Given the description of an element on the screen output the (x, y) to click on. 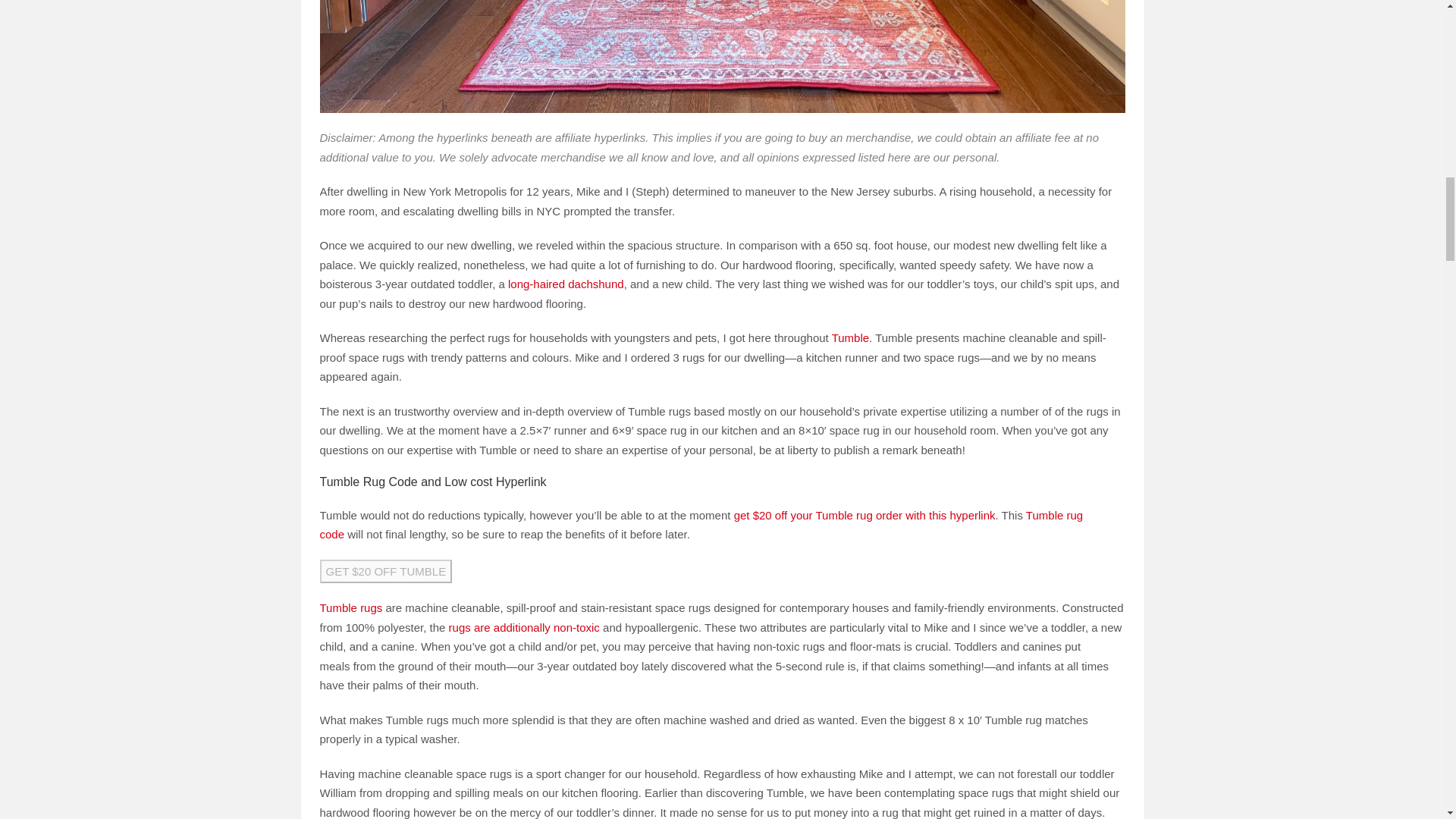
long-haired dachshund (566, 283)
Visit and shop Tumble rugs (351, 607)
Tumble rugs - tumbleliving.com (850, 337)
